Given the description of an element on the screen output the (x, y) to click on. 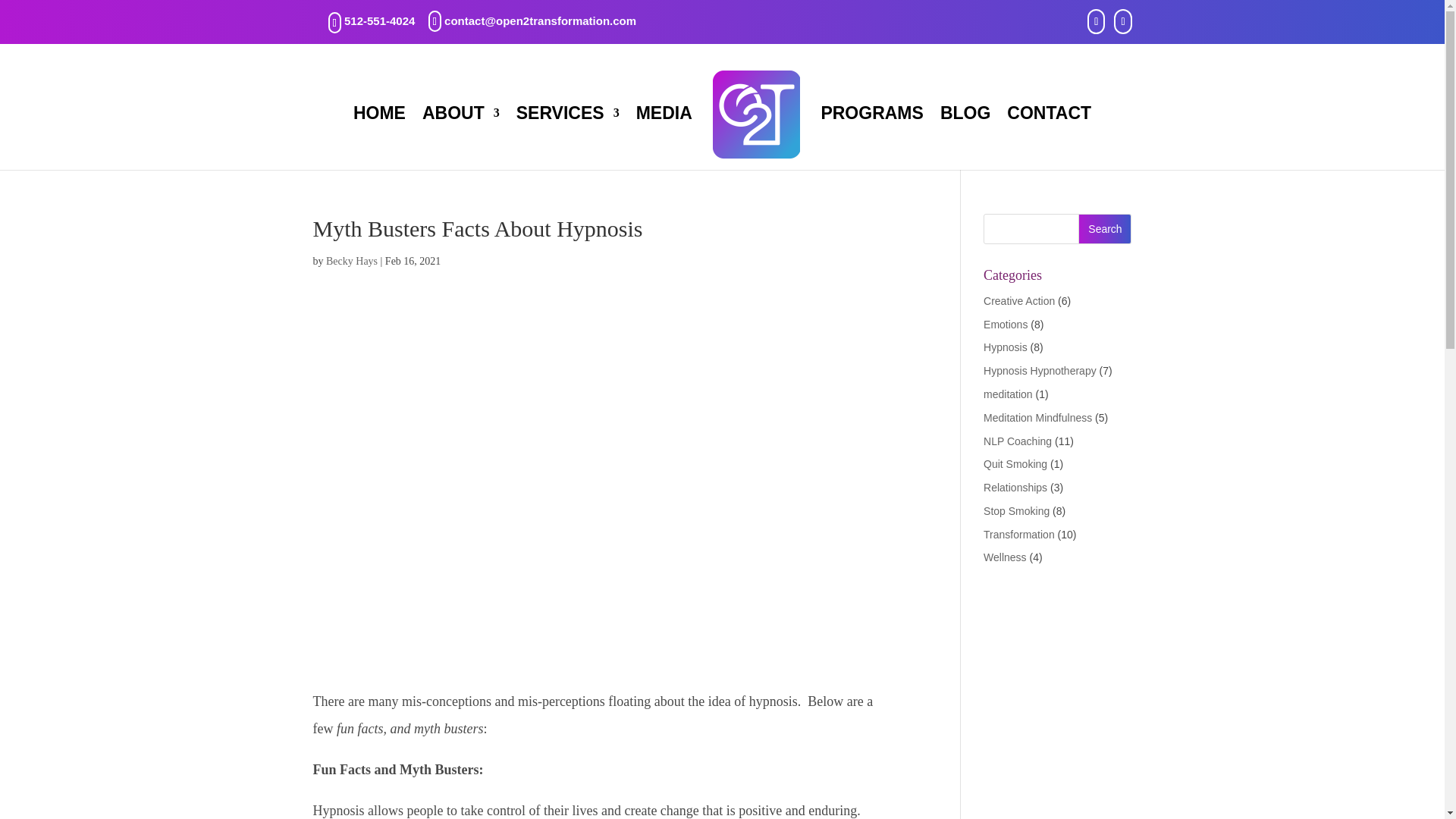
ABOUT (460, 138)
Posts by Becky Hays (351, 260)
MEDIA (664, 138)
CONTACT (1048, 138)
Search (1104, 228)
SERVICES (568, 138)
512-551-4024 (378, 20)
PROGRAMS (872, 138)
